Given the description of an element on the screen output the (x, y) to click on. 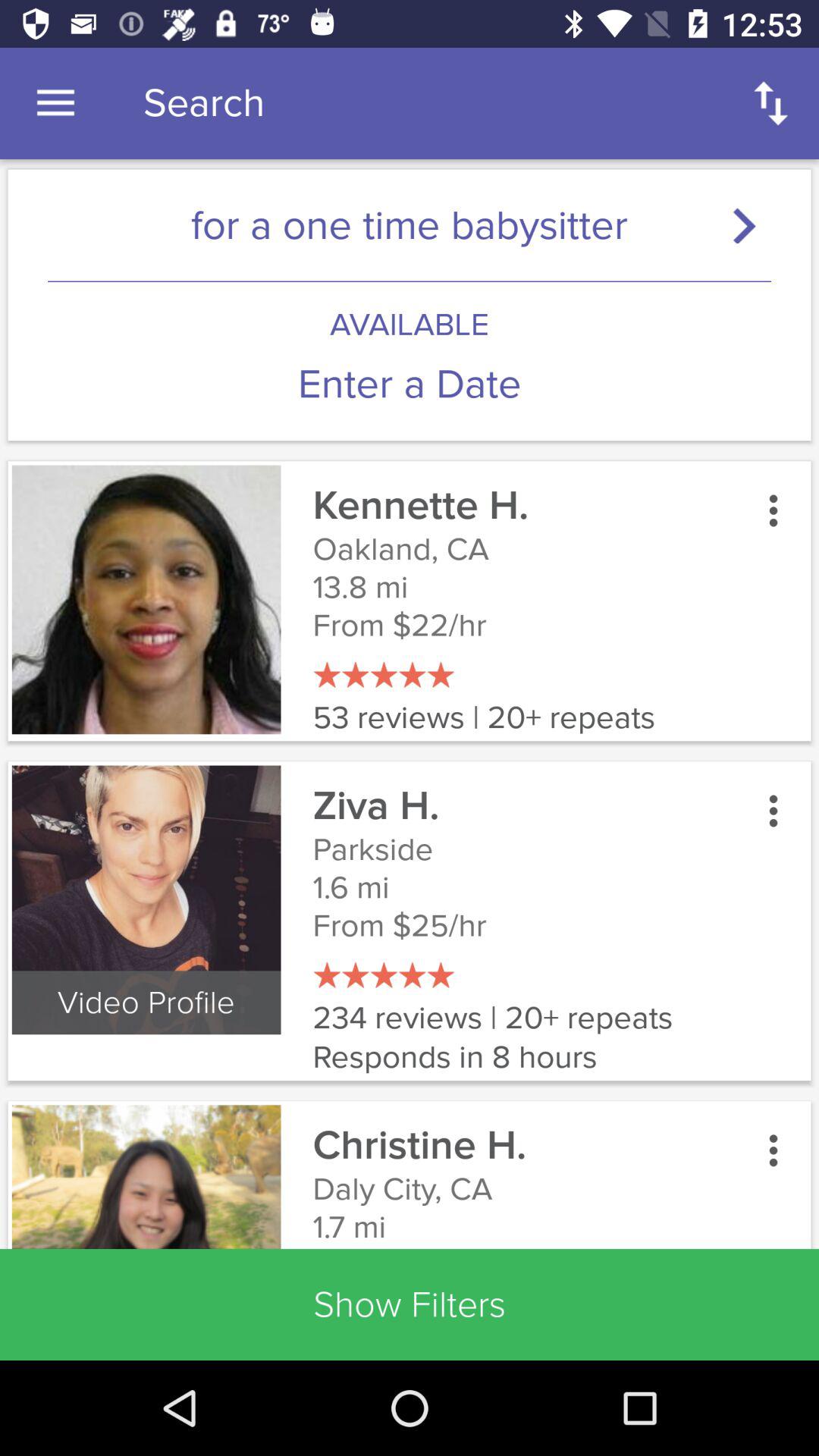
scroll to show filters icon (409, 1304)
